Given the description of an element on the screen output the (x, y) to click on. 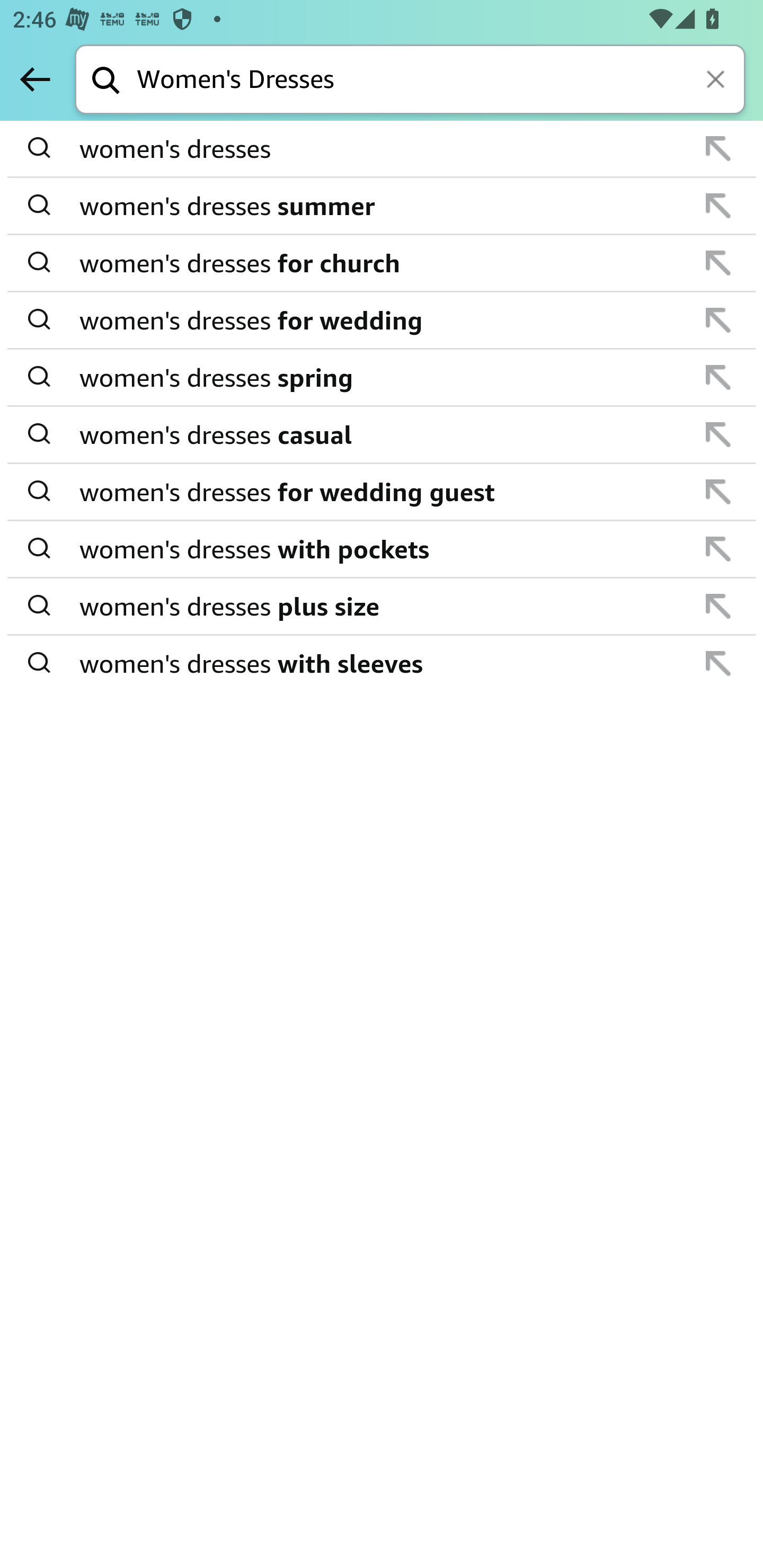
Women's Dresses (440, 80)
Clear search keywords (717, 80)
Back (35, 78)
append suggestion women's dresses (381, 149)
women's dresses (382, 149)
append suggestion (718, 147)
women's dresses summer (382, 205)
append suggestion women's dresses summer (381, 206)
append suggestion (718, 205)
women's dresses for church (382, 262)
append suggestion women's dresses for church (381, 263)
append suggestion (718, 262)
women's dresses for wedding (382, 319)
append suggestion women's dresses for wedding (381, 320)
append suggestion (718, 319)
women's dresses spring (382, 377)
append suggestion women's dresses spring (381, 377)
append suggestion (718, 376)
women's dresses casual (382, 434)
append suggestion women's dresses casual (381, 435)
append suggestion (718, 434)
women's dresses for wedding guest (382, 491)
append suggestion (718, 491)
women's dresses with pockets (382, 548)
append suggestion women's dresses with pockets (381, 549)
append suggestion (718, 548)
women's dresses plus size (382, 606)
append suggestion women's dresses plus size (381, 606)
append suggestion (718, 605)
women's dresses with sleeves (382, 662)
append suggestion women's dresses with sleeves (381, 663)
append suggestion (718, 663)
